Given the description of an element on the screen output the (x, y) to click on. 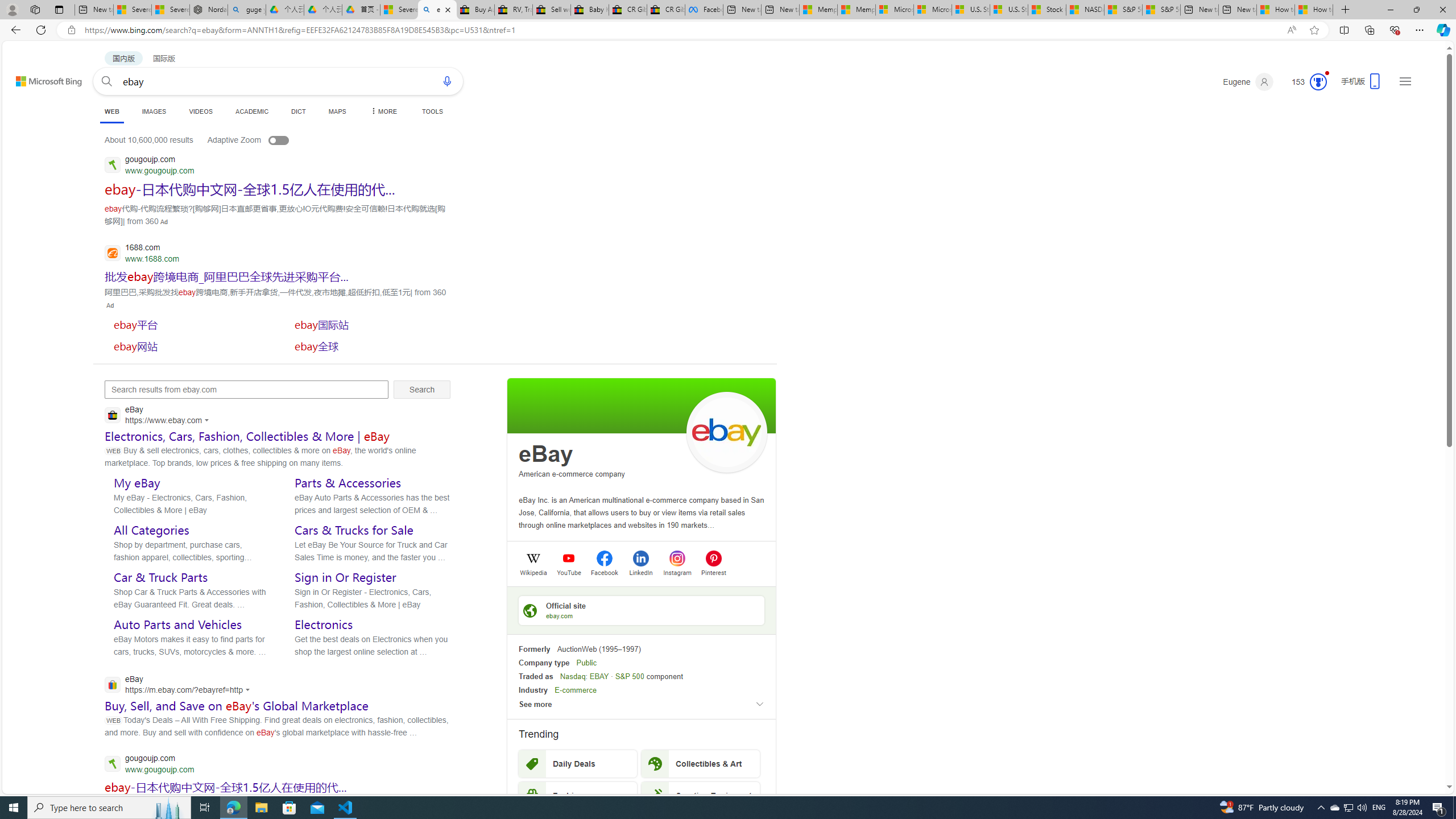
VIDEOS (201, 111)
SERP,5712 (188, 324)
Industry (533, 690)
My eBay (136, 482)
DICT (298, 111)
IMAGES (153, 111)
